Given the description of an element on the screen output the (x, y) to click on. 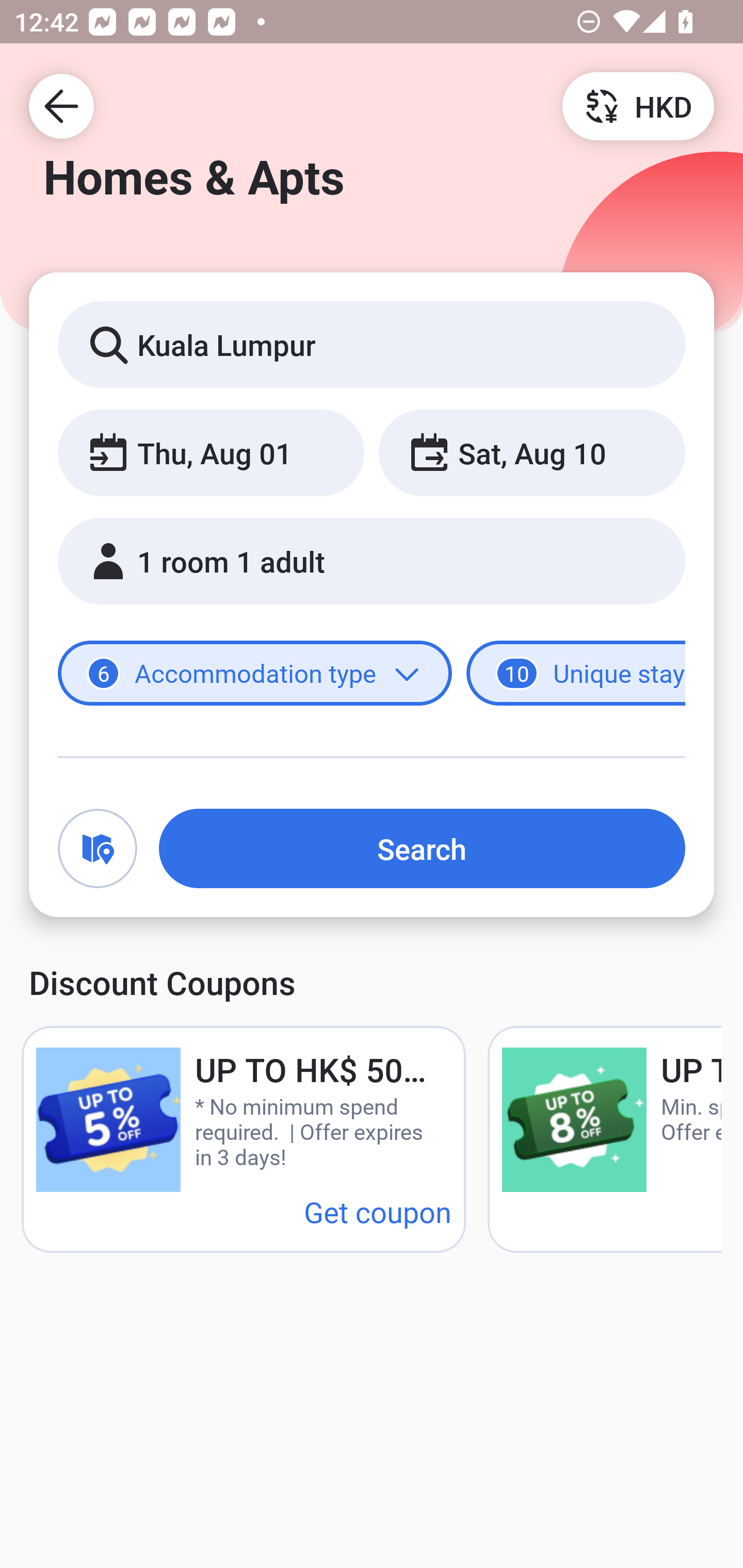
HKD (638, 105)
Kuala Lumpur (371, 344)
Thu, Aug 01 (210, 452)
Sat, Aug 10 (531, 452)
1 room 1 adult (371, 561)
6 Accommodation type (254, 673)
10 Unique stays (575, 673)
Search (422, 848)
Get coupon (377, 1211)
